Given the description of an element on the screen output the (x, y) to click on. 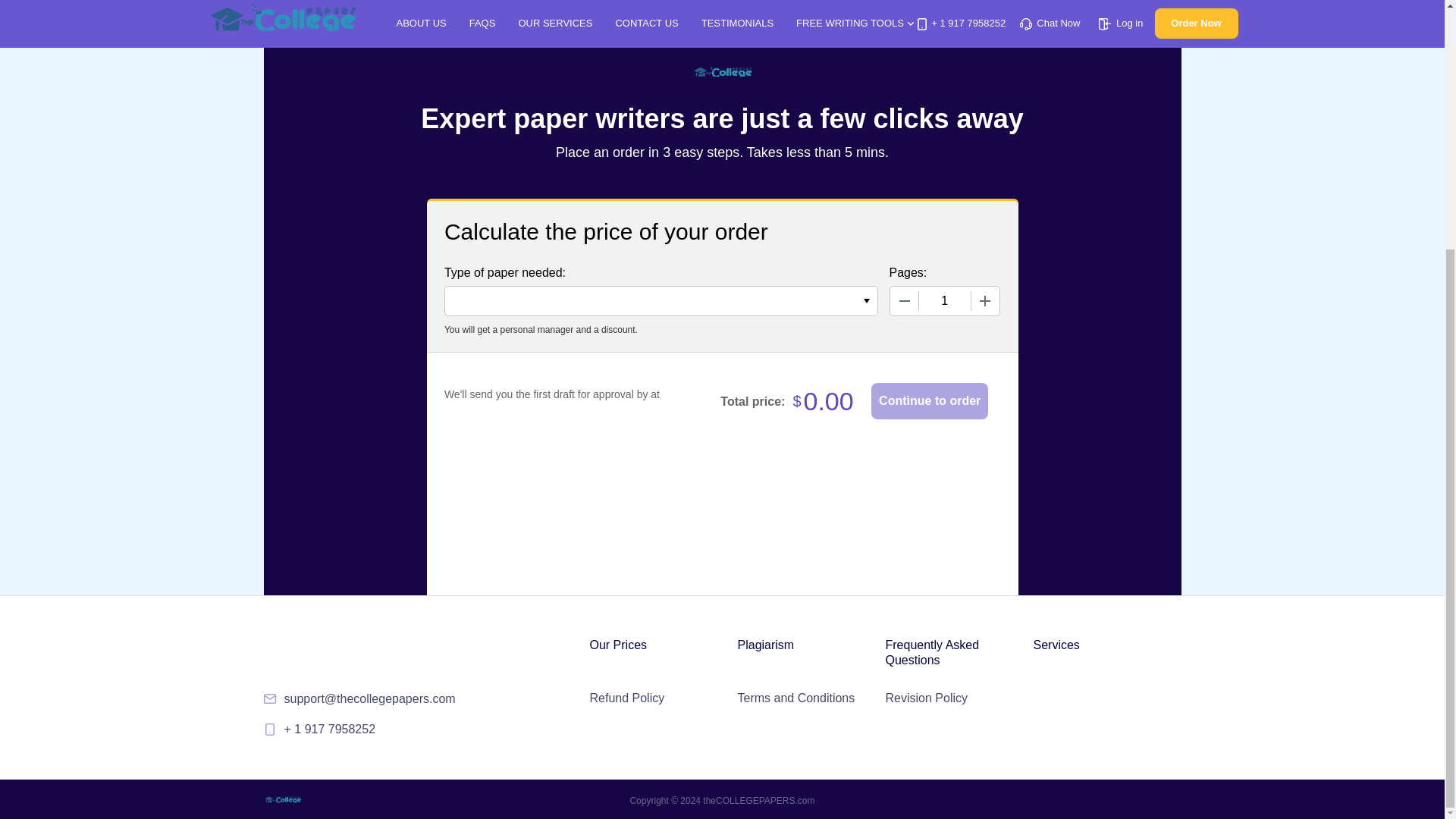
Refund Policy (627, 697)
Terms and Conditions (795, 697)
Plagiarism (764, 645)
Revision Policy (926, 697)
Services (1055, 645)
Our Prices (618, 645)
Frequently Asked Questions (957, 653)
Continue to order (929, 401)
Continue to Order (929, 401)
Increase (984, 300)
1 (944, 300)
Decrease (903, 300)
